Given the description of an element on the screen output the (x, y) to click on. 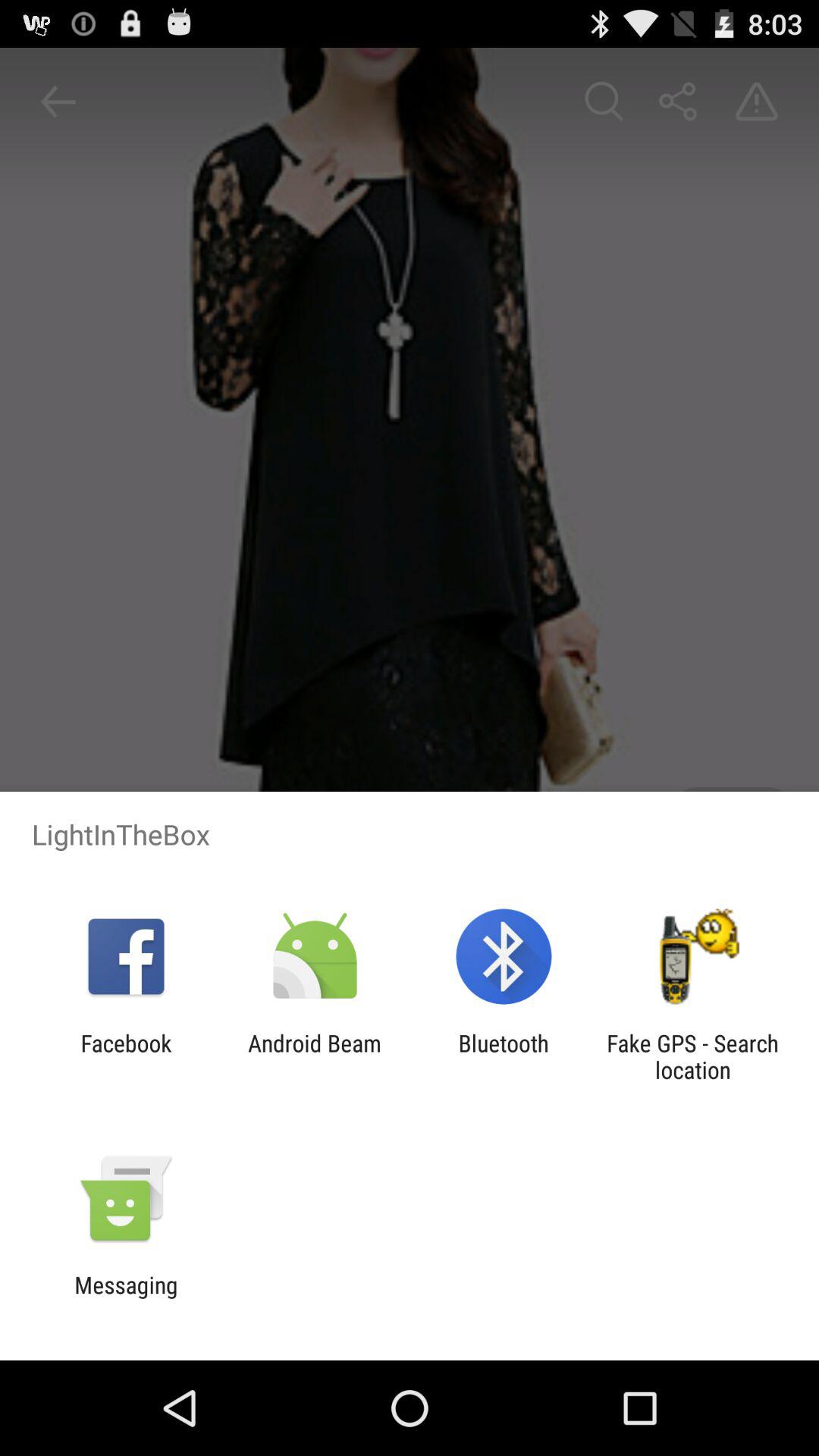
launch the app to the right of bluetooth item (692, 1056)
